Given the description of an element on the screen output the (x, y) to click on. 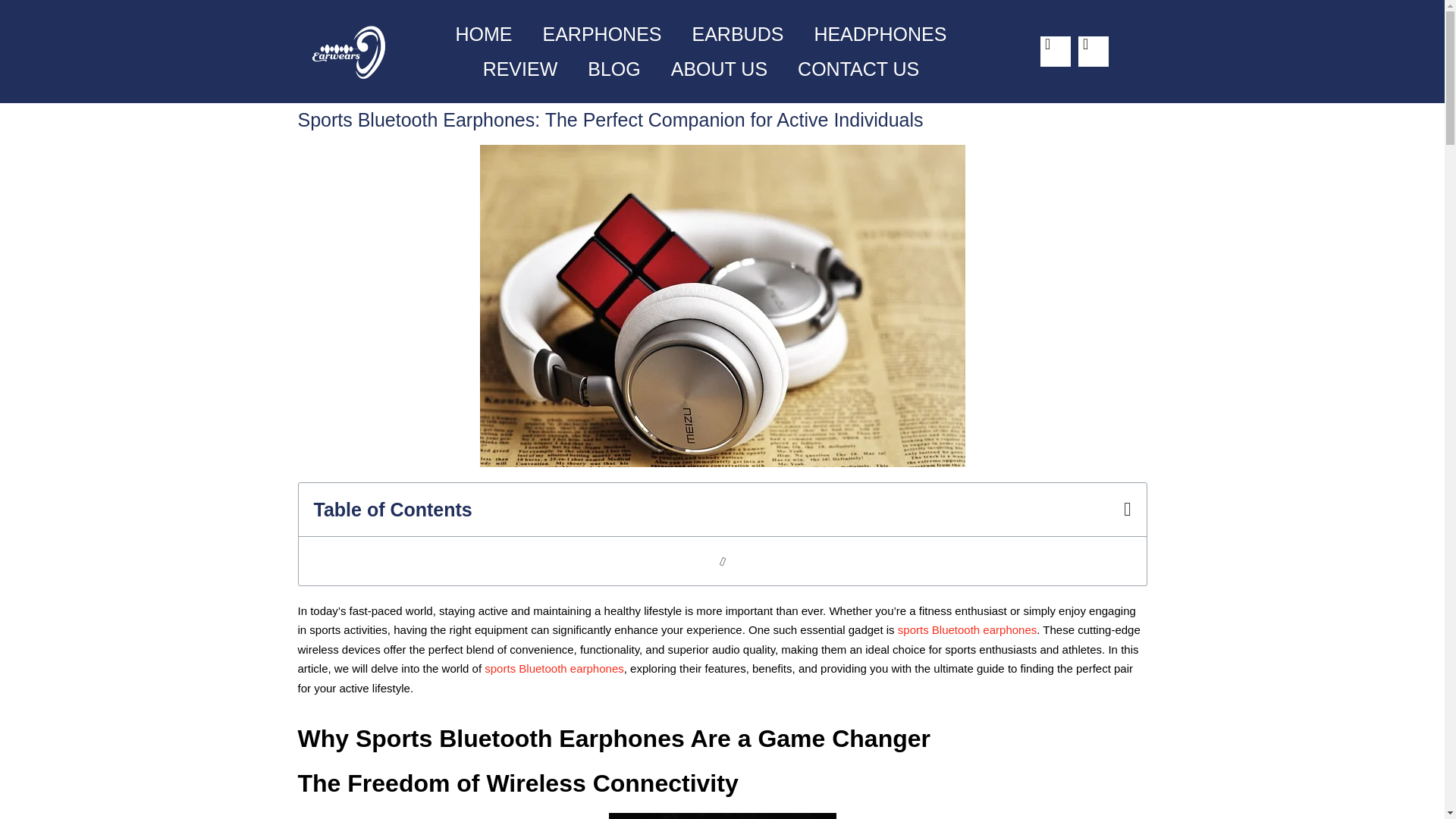
REVIEW (520, 68)
CONTACT US (858, 68)
sports Bluetooth earphones (553, 667)
EARBUDS (737, 33)
ABOUT US (719, 68)
HEADPHONES (878, 33)
sports Bluetooth earphones (967, 629)
HOME (484, 33)
EARPHONES (602, 33)
BLOG (613, 68)
